Given the description of an element on the screen output the (x, y) to click on. 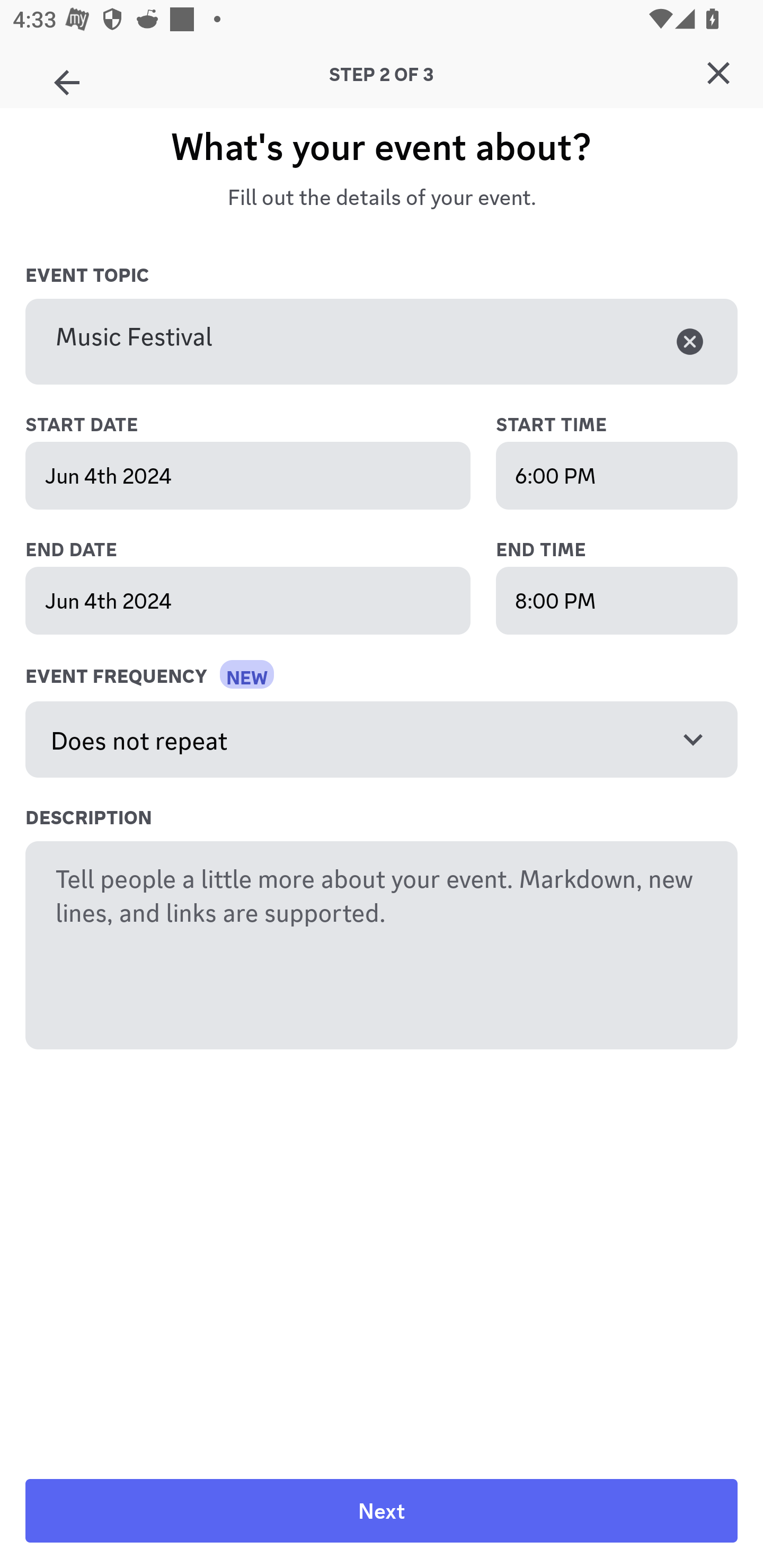
  Friends F (66, 75)
Close (718, 72)
Search (373, 165)
Music Festival Event Topic Clear (381, 341)
Clear (689, 341)
START DATE (266, 425)
START TIME (616, 425)
Start Date, Jun 4th 2024 Jun 4th 2024 (247, 475)
Start Time, 6:00 PM 6:00 PM (616, 475)
END DATE (266, 550)
END TIME (616, 550)
End Date, Jun 4th 2024 Jun 4th 2024 (247, 600)
End Time, 8:00 PM 8:00 PM (616, 600)
Event Frequency Does not repeat (381, 738)
Next (381, 1510)
